Given the description of an element on the screen output the (x, y) to click on. 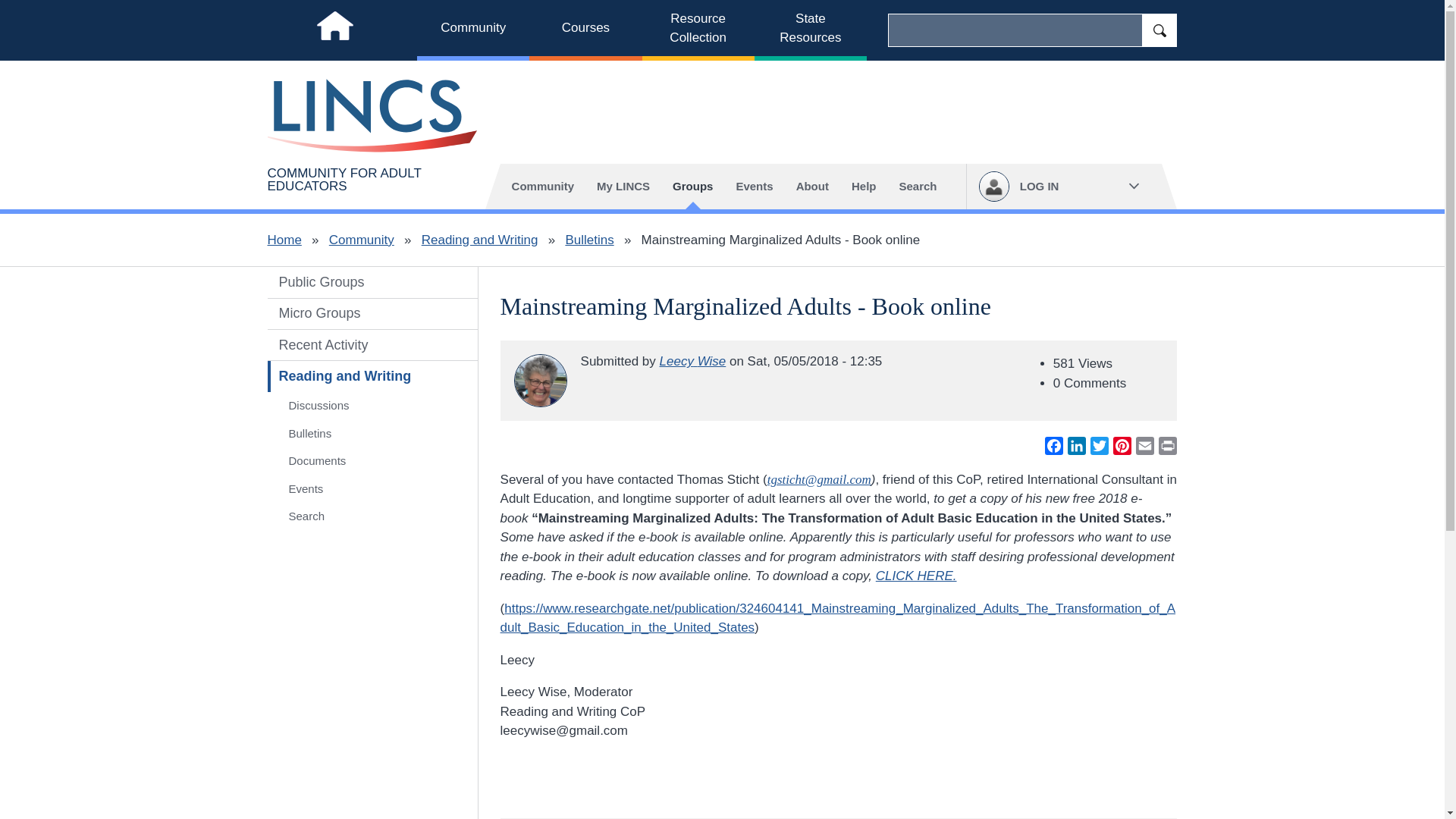
Help (864, 186)
Courses (585, 30)
Events (753, 186)
My LINCS (623, 186)
Home (283, 239)
Enter the terms you wish to search for. (1015, 29)
Search (916, 186)
Groups (692, 186)
Community (361, 239)
